Given the description of an element on the screen output the (x, y) to click on. 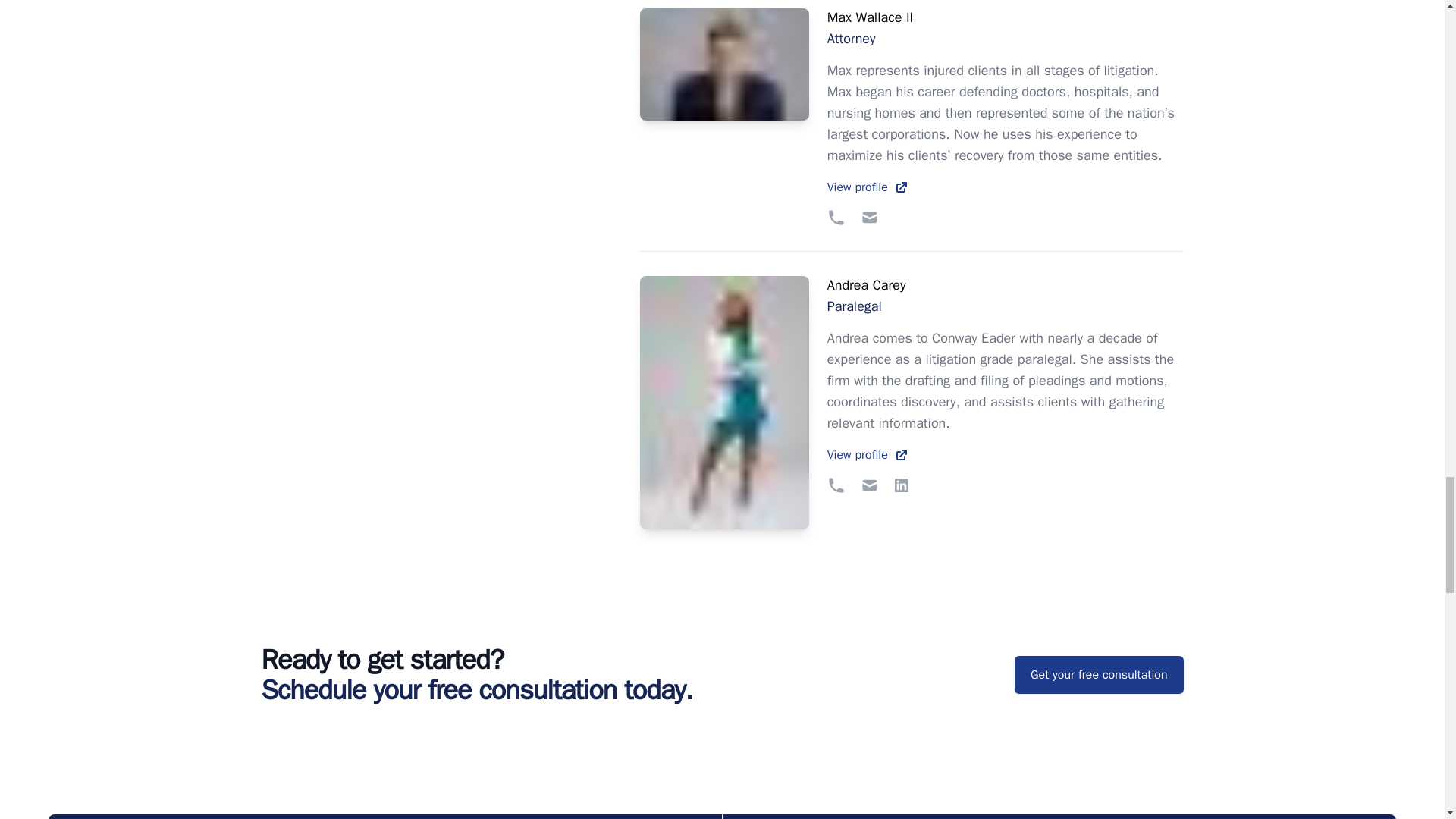
View profile (1005, 27)
Email (1005, 295)
Phone (1005, 187)
